Given the description of an element on the screen output the (x, y) to click on. 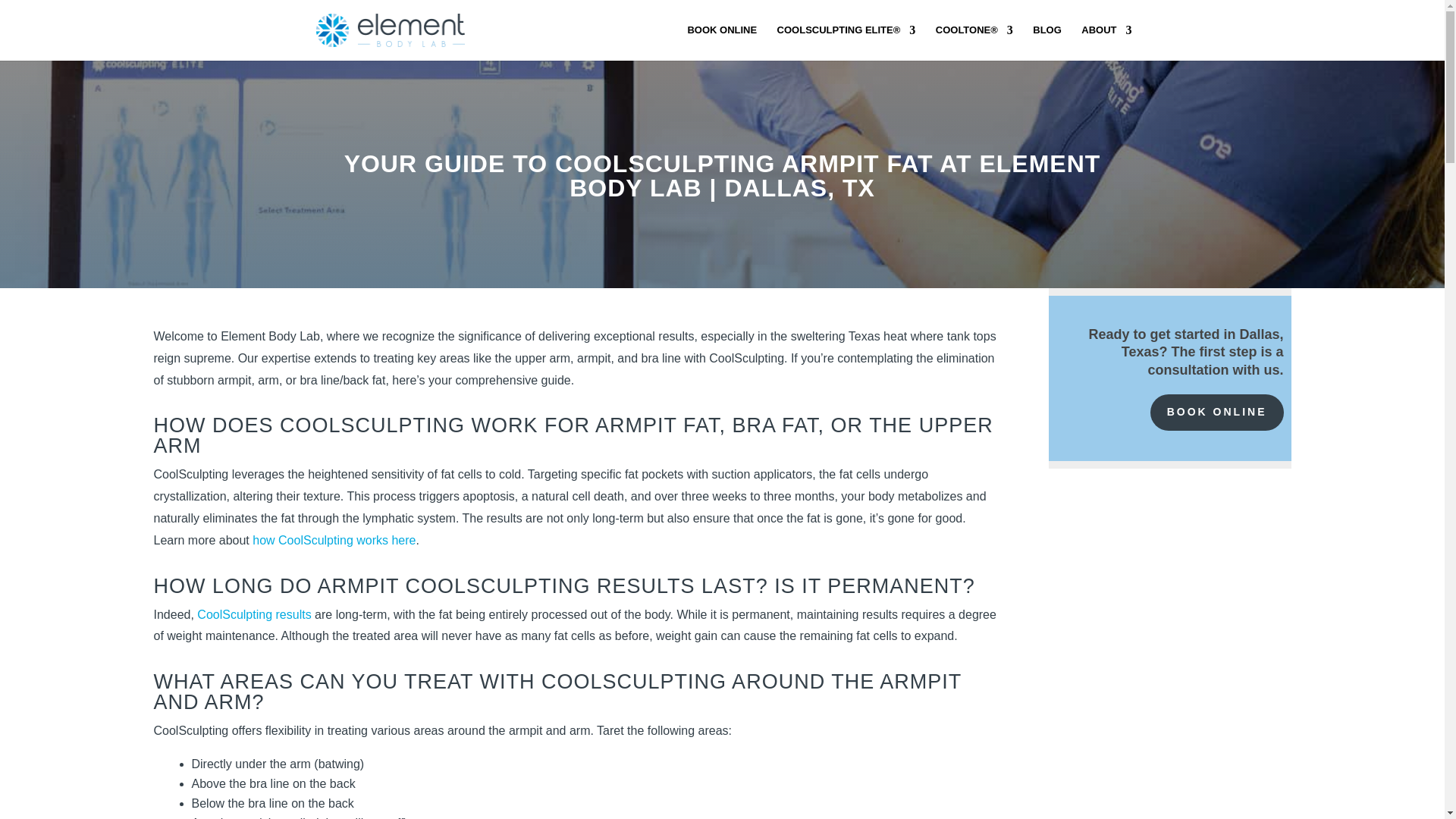
ABOUT (1106, 42)
BOOK ONLINE (722, 42)
Learn How CoolSculpting Works (846, 42)
